Given the description of an element on the screen output the (x, y) to click on. 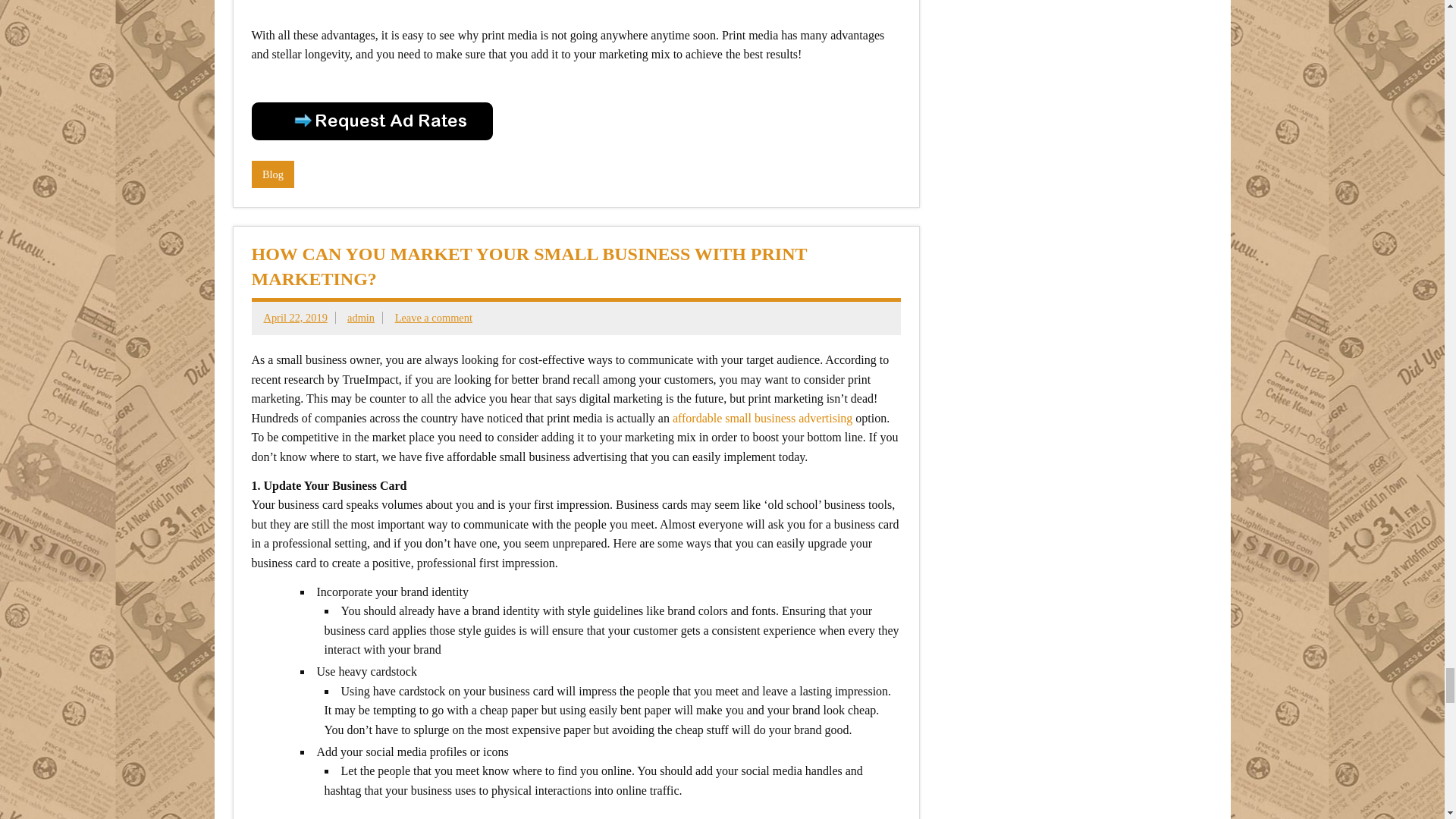
View all posts by admin (360, 317)
6:09 pm (295, 317)
